Given the description of an element on the screen output the (x, y) to click on. 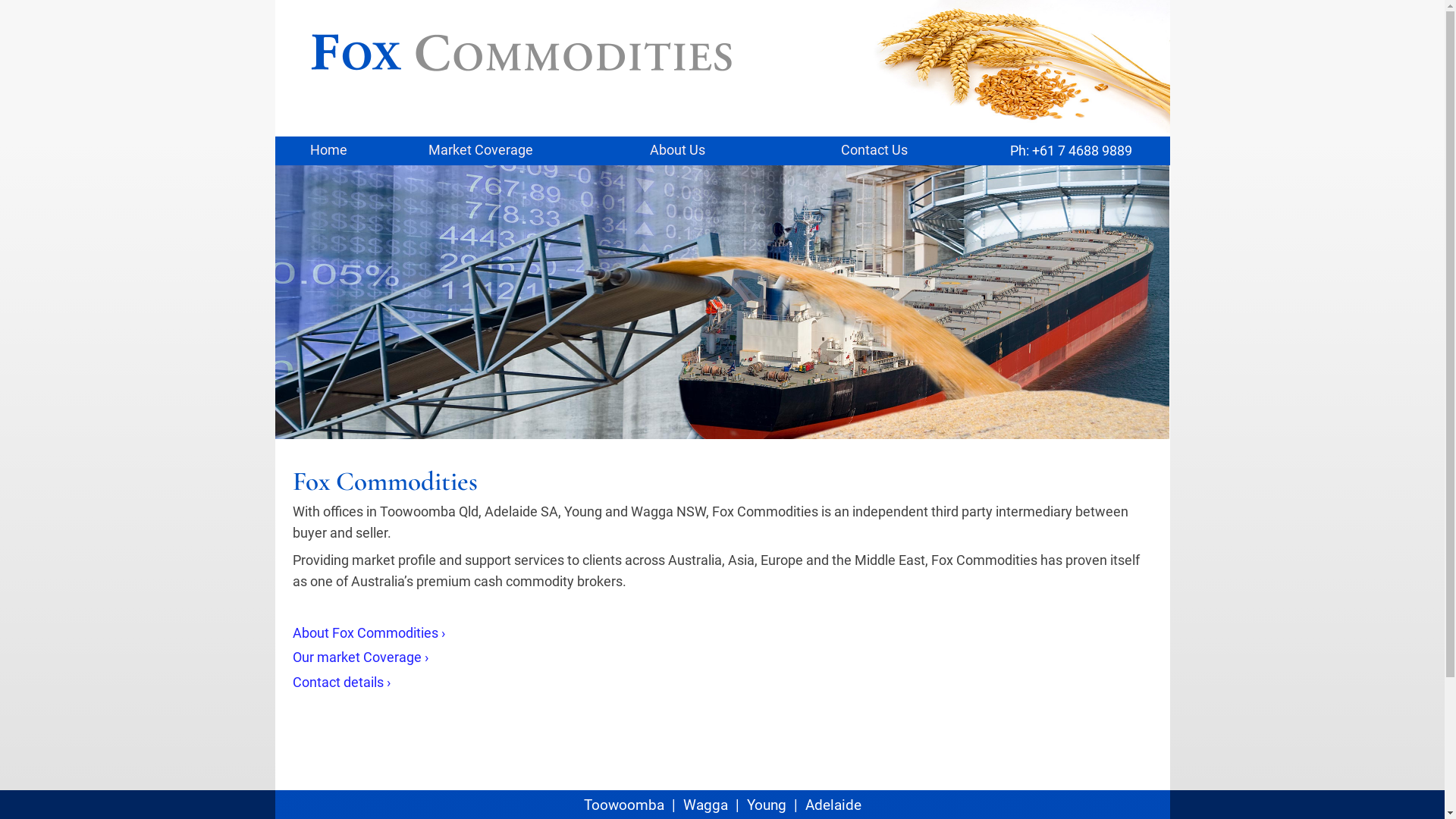
Contact Us Element type: text (873, 150)
Toowoomba  |  Wagga  |  Young  |  Adelaide Element type: text (722, 804)
Market Coverage Element type: text (480, 150)
Home Element type: text (328, 150)
About Us Element type: text (677, 150)
